Given the description of an element on the screen output the (x, y) to click on. 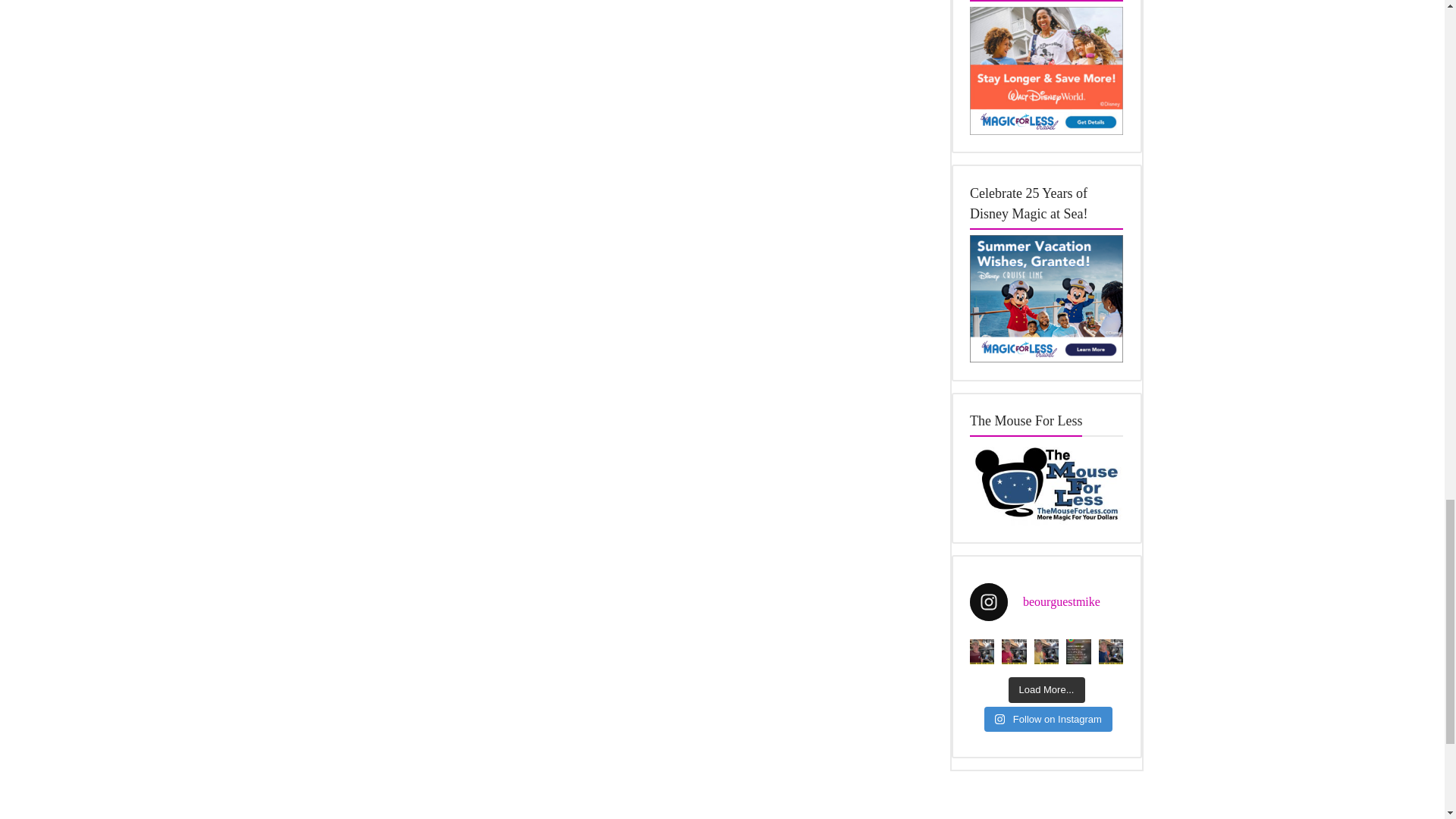
The Magic Is Here! (1045, 70)
beourguestmike (1045, 601)
